Given the description of an element on the screen output the (x, y) to click on. 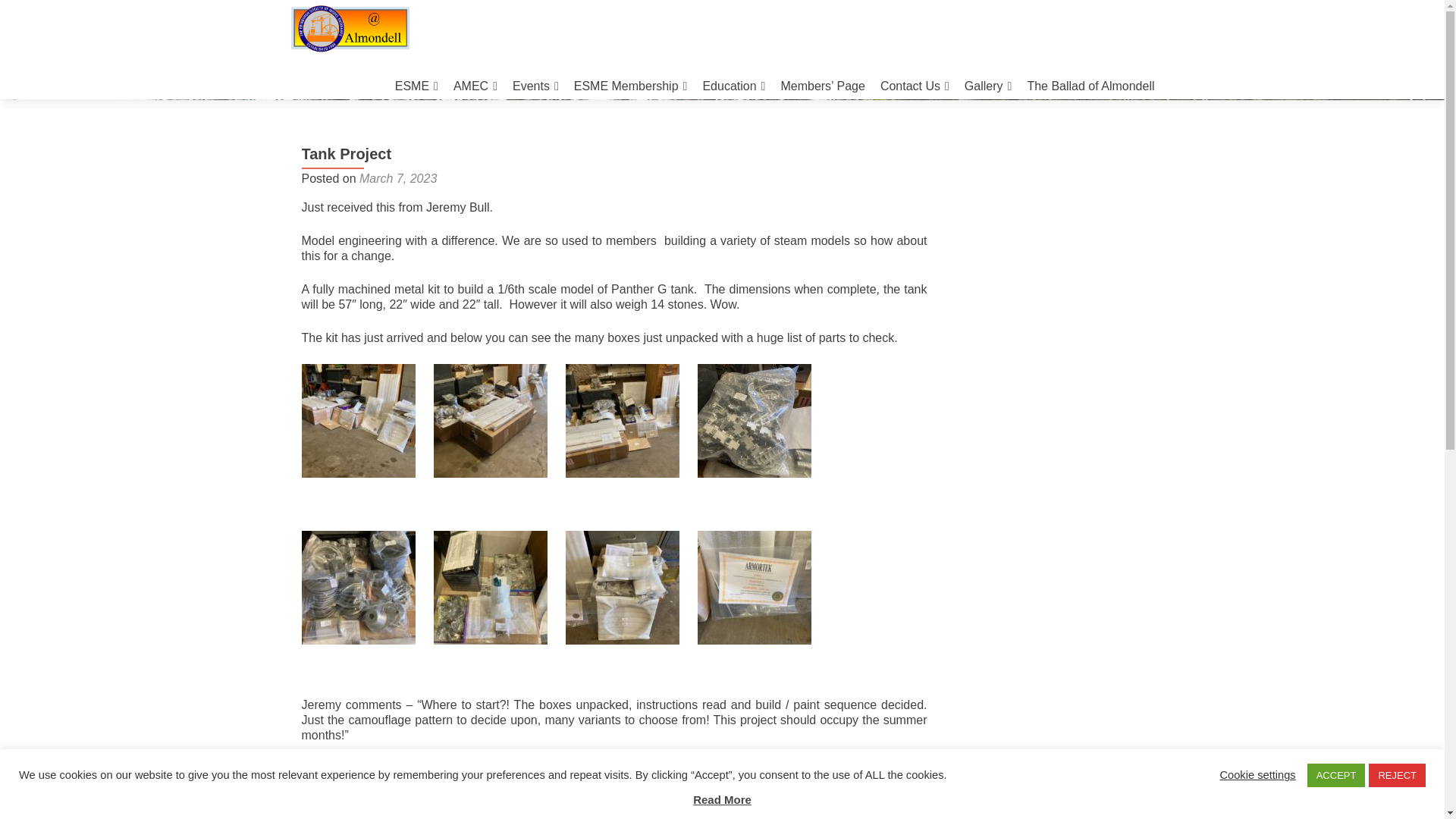
ESME (416, 85)
Education (733, 85)
AMEC (474, 85)
Events (535, 85)
Contact Us (914, 85)
Gallery (987, 85)
ESME Membership (630, 85)
